Given the description of an element on the screen output the (x, y) to click on. 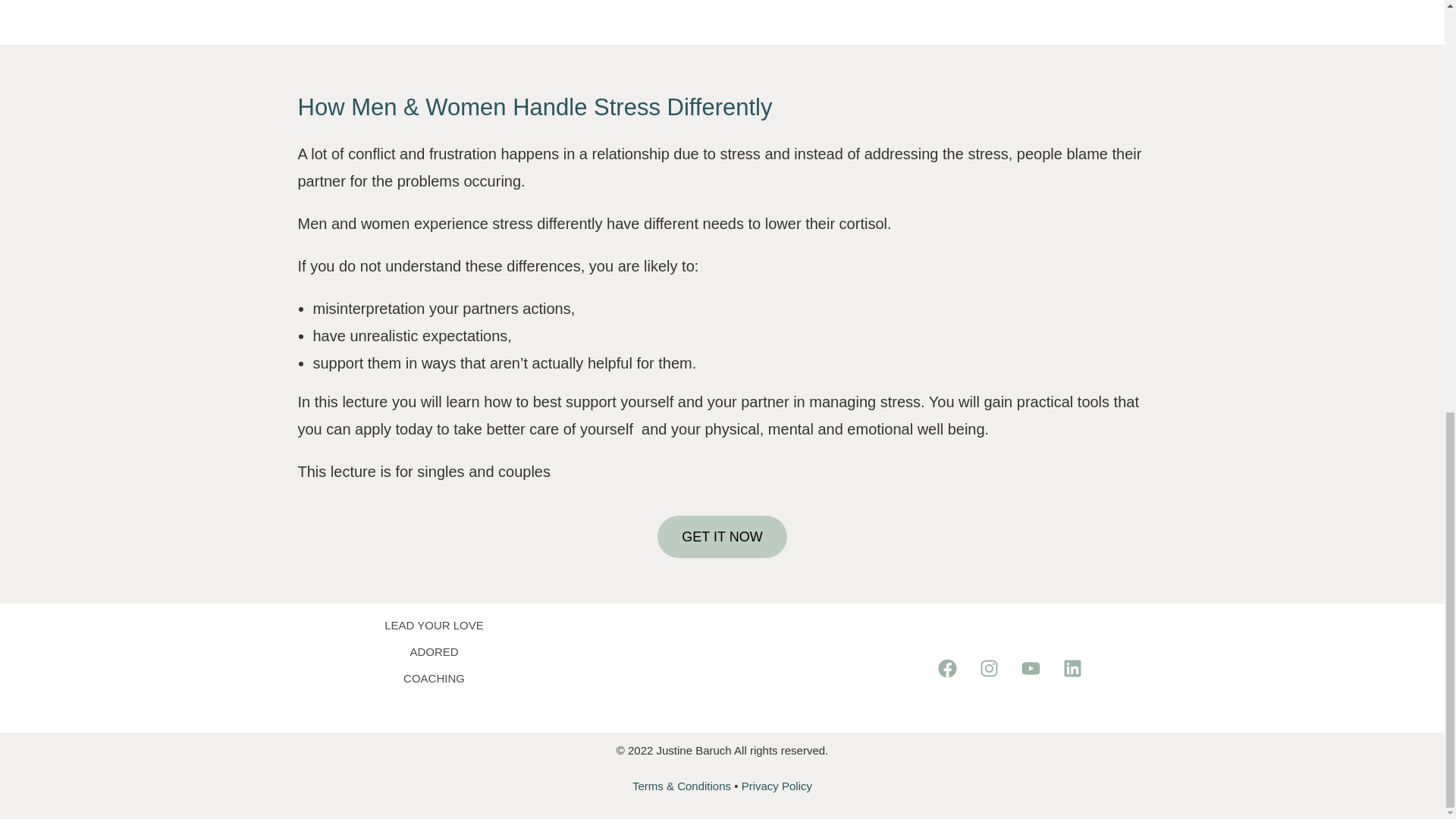
GET IT NOW (722, 536)
ADORED (433, 651)
LEAD YOUR LOVE (433, 624)
COACHING (433, 678)
